Given the description of an element on the screen output the (x, y) to click on. 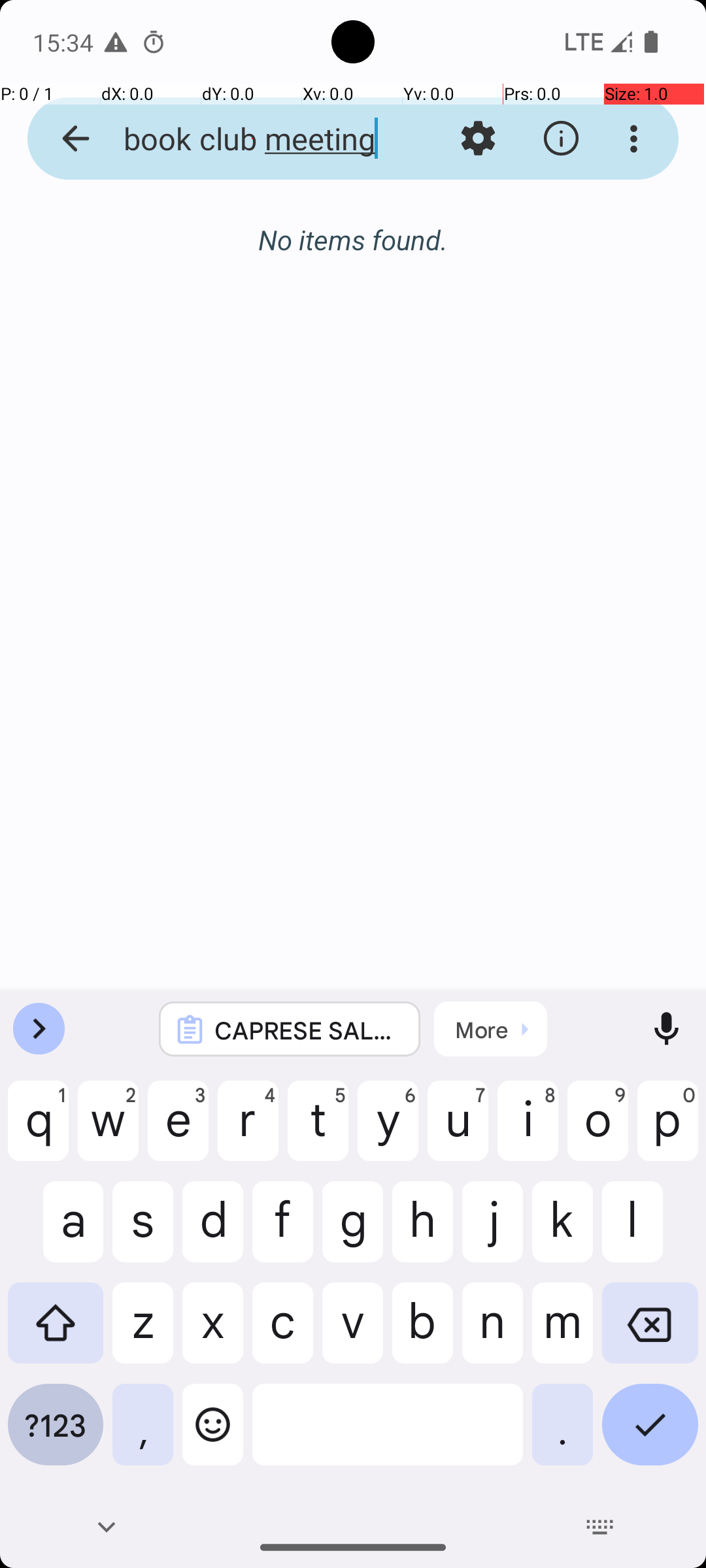
book club meeting Element type: android.widget.EditText (252, 138)
+18358487438 Element type: android.widget.TextView (408, 242)
+18272662451 Element type: android.widget.TextView (408, 412)
Book club meets next Tuesday to discuss '1984'. Element type: android.widget.TextView (408, 450)
+11141771732 Element type: android.widget.TextView (408, 581)
You can't make an omelette without breaking a few eggs. Element type: android.widget.TextView (408, 620)
+18479585548 Element type: android.widget.TextView (408, 750)
To be or not to be. Element type: android.widget.TextView (408, 789)
CAPRESE SALAD SKEWERS  Servings: 1 serving Time: 45 mins  A quick and easy meal, perfect for busy weekdays.  Ingredients: - n/a  Directions: 1. Thread cherry tomatoes, basil leaves, and mozzarella balls onto skewers. Drizzle with balsamic glaze. Feel free to substitute with ingredients you have on hand.  Shared with https://play.google.com/store/apps/details?id=com.flauschcode.broccoli Element type: android.widget.TextView (306, 1029)
